Given the description of an element on the screen output the (x, y) to click on. 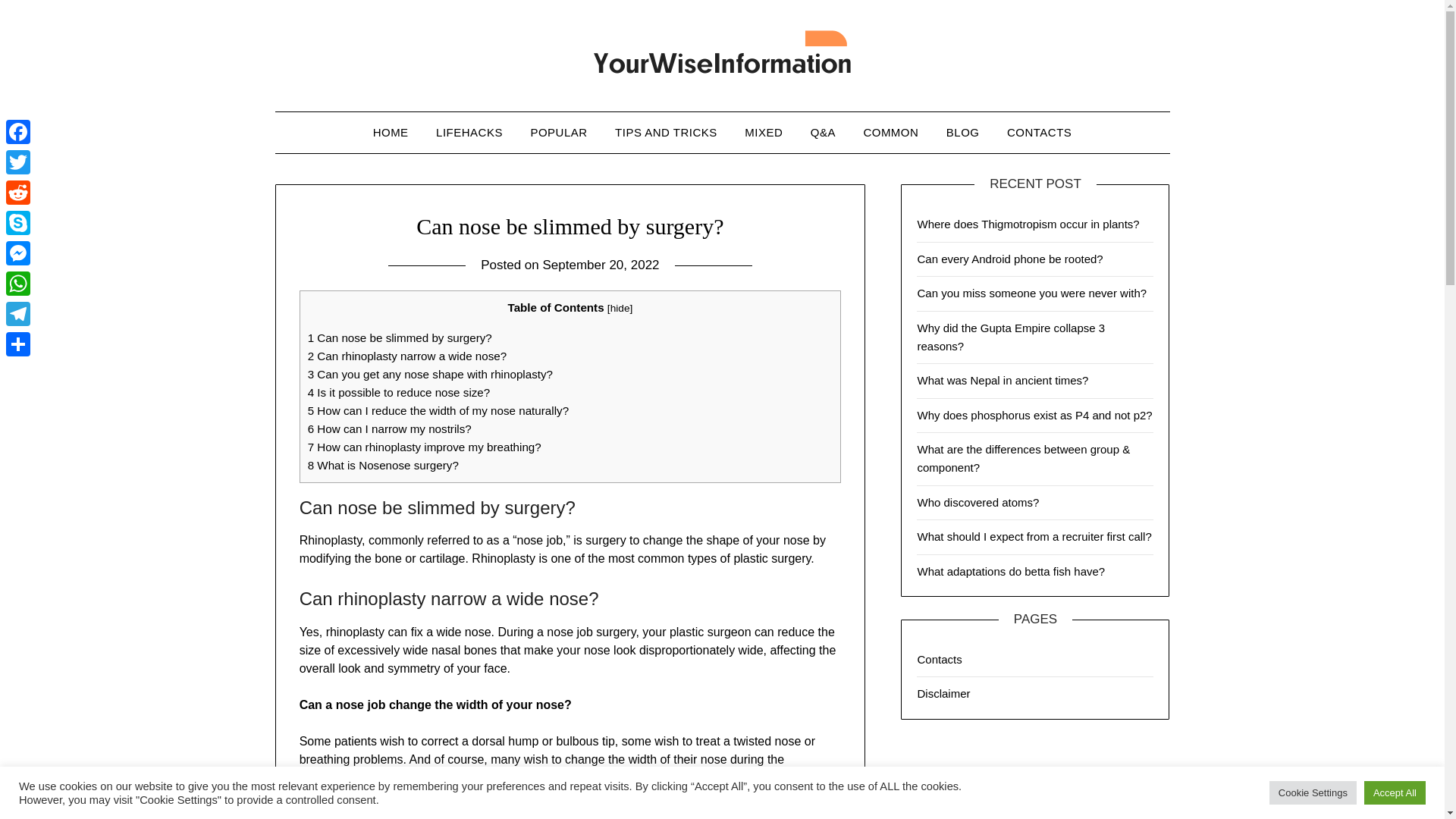
Can every Android phone be rooted? (1009, 258)
MIXED (763, 132)
hide (620, 307)
Reddit (17, 192)
Where does Thigmotropism occur in plants? (1027, 223)
3 Can you get any nose shape with rhinoplasty? (430, 373)
8 What is Nosenose surgery? (382, 464)
2 Can rhinoplasty narrow a wide nose? (406, 355)
4 Is it possible to reduce nose size? (398, 391)
Twitter (17, 162)
7 How can rhinoplasty improve my breathing? (424, 446)
LIFEHACKS (469, 132)
What was Nepal in ancient times? (1002, 379)
Facebook (17, 132)
1 Can nose be slimmed by surgery? (399, 337)
